Given the description of an element on the screen output the (x, y) to click on. 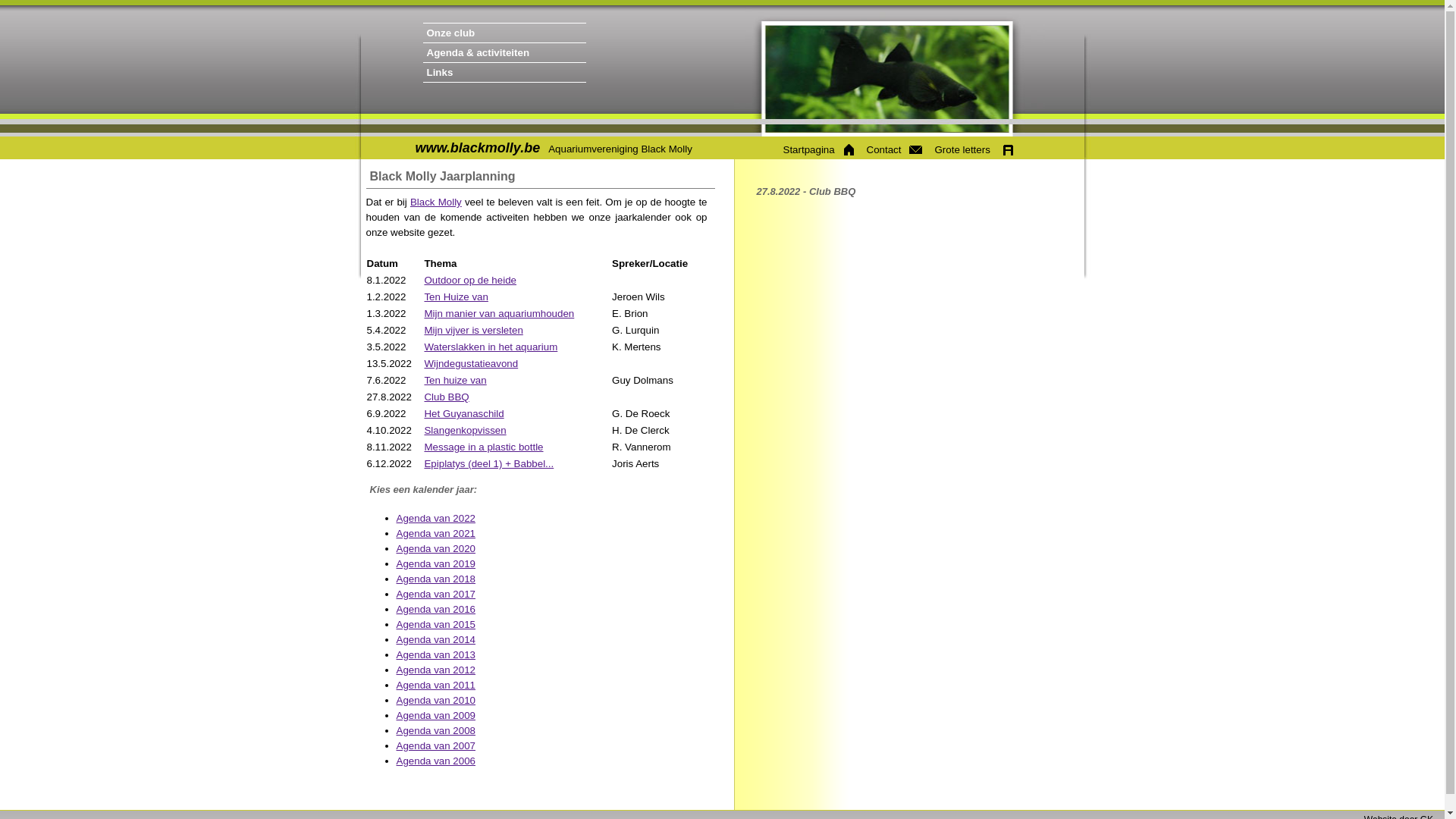
Club BBQ Element type: text (445, 396)
Links Element type: text (544, 71)
Agenda van 2022 Element type: text (435, 518)
Startpagina Element type: text (817, 149)
Outdoor op de heide Element type: text (469, 279)
Ten huize van Element type: text (454, 379)
Slangenkopvissen Element type: text (464, 430)
Agenda & activiteiten Element type: text (544, 52)
Epiplatys (deel 1) + Babbel... Element type: text (488, 463)
Ten Huize van Element type: text (455, 296)
Agenda van 2012 Element type: text (435, 669)
Onze club Element type: text (544, 32)
Agenda van 2007 Element type: text (435, 745)
Message in a plastic bottle Element type: text (482, 446)
www.blackmolly.be Element type: text (477, 147)
Agenda van 2018 Element type: text (435, 578)
Agenda van 2019 Element type: text (435, 563)
Het Guyanaschild Element type: text (463, 413)
Agenda van 2016 Element type: text (435, 609)
Black Molly Element type: text (435, 201)
Agenda van 2006 Element type: text (435, 760)
Agenda van 2010 Element type: text (435, 700)
Agenda van 2014 Element type: text (435, 639)
Agenda van 2021 Element type: text (435, 533)
Agenda van 2020 Element type: text (435, 548)
Mijn vijver is versleten Element type: text (472, 329)
Wijndegustatieavond Element type: text (470, 363)
Mijn manier van aquariumhouden Element type: text (498, 313)
Agenda van 2017 Element type: text (435, 593)
Waterslakken in het aquarium Element type: text (490, 346)
Contact Element type: text (892, 149)
Agenda van 2015 Element type: text (435, 624)
Agenda van 2011 Element type: text (435, 684)
Agenda van 2013 Element type: text (435, 654)
Agenda van 2008 Element type: text (435, 730)
Agenda van 2009 Element type: text (435, 715)
Grote letters Element type: text (972, 149)
